Given the description of an element on the screen output the (x, y) to click on. 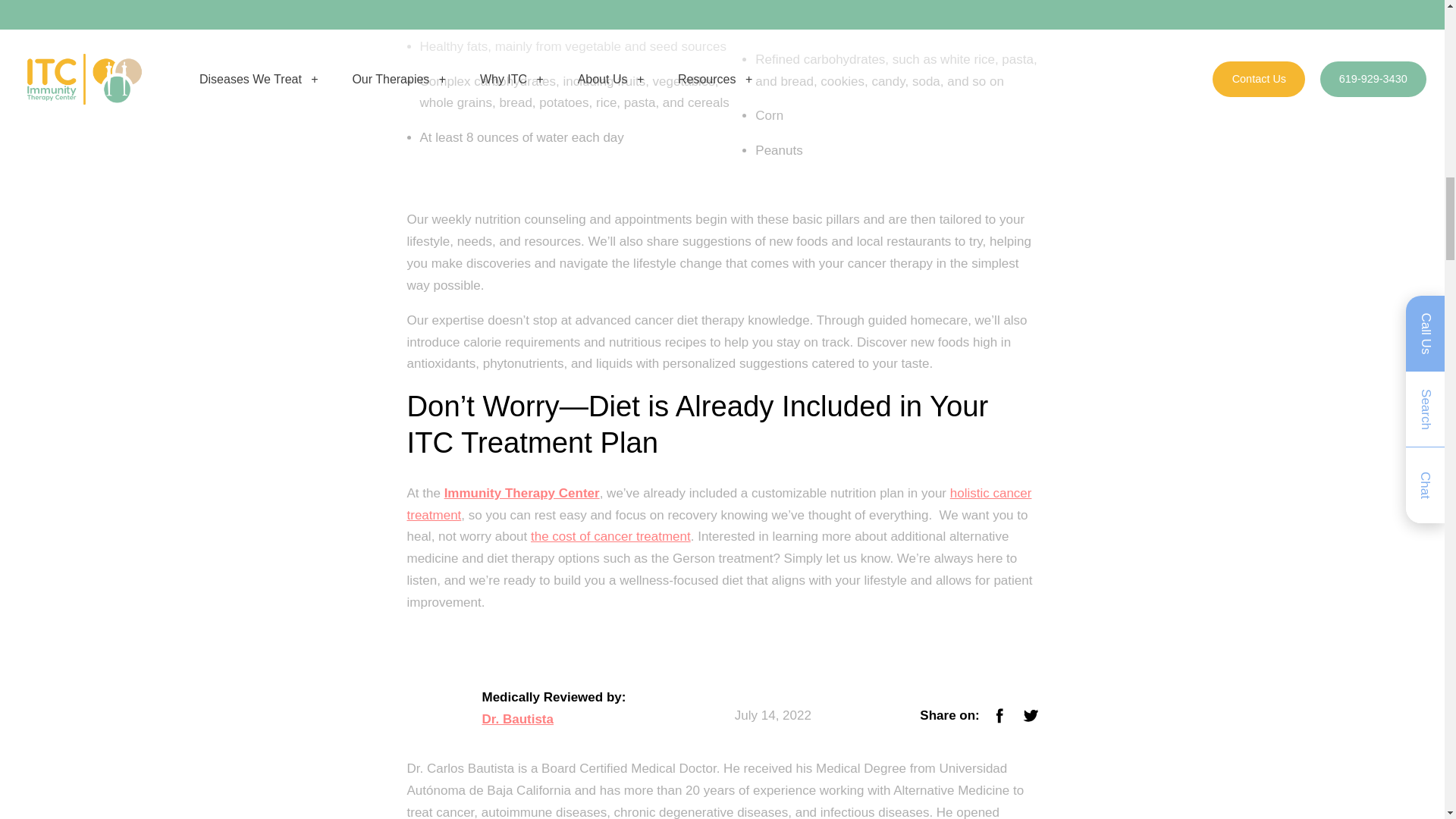
the cost of cancer treatment (610, 536)
holistic cancer treatment (718, 504)
Immunity Therapy Center (521, 493)
Dr. Bautista (517, 720)
